Given the description of an element on the screen output the (x, y) to click on. 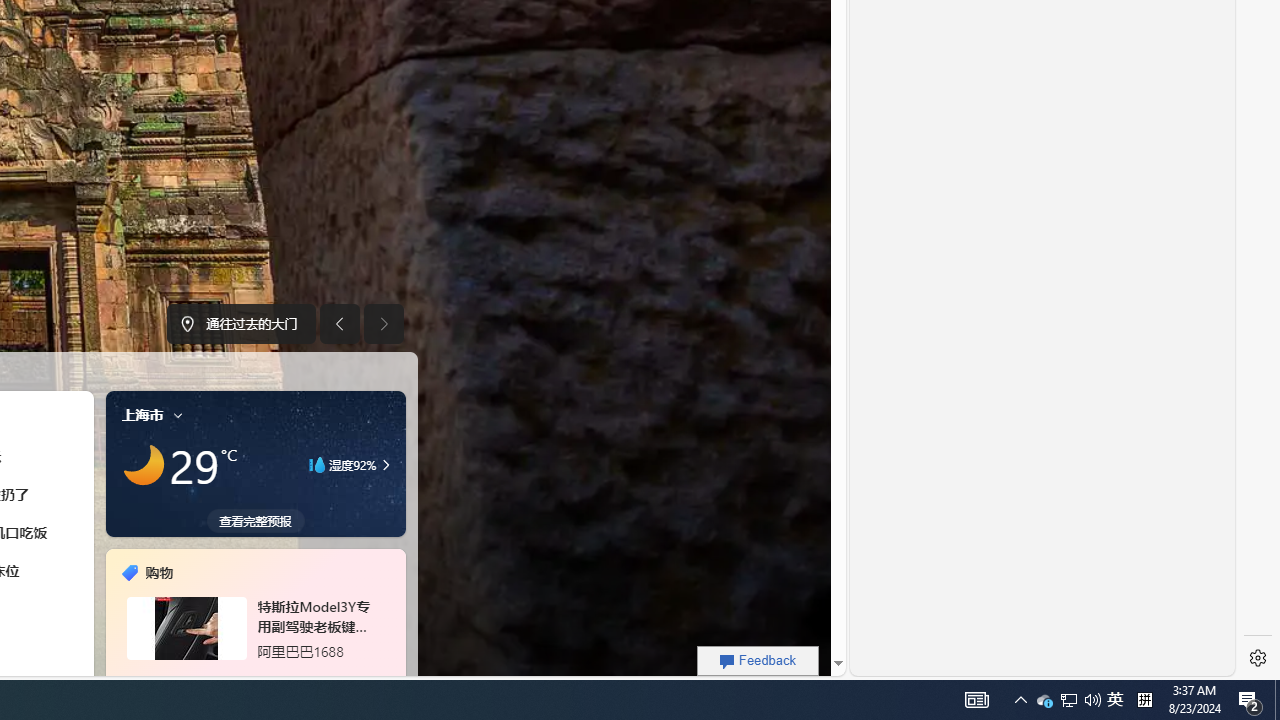
Feedback (758, 660)
tab-11 (278, 678)
